Given the description of an element on the screen output the (x, y) to click on. 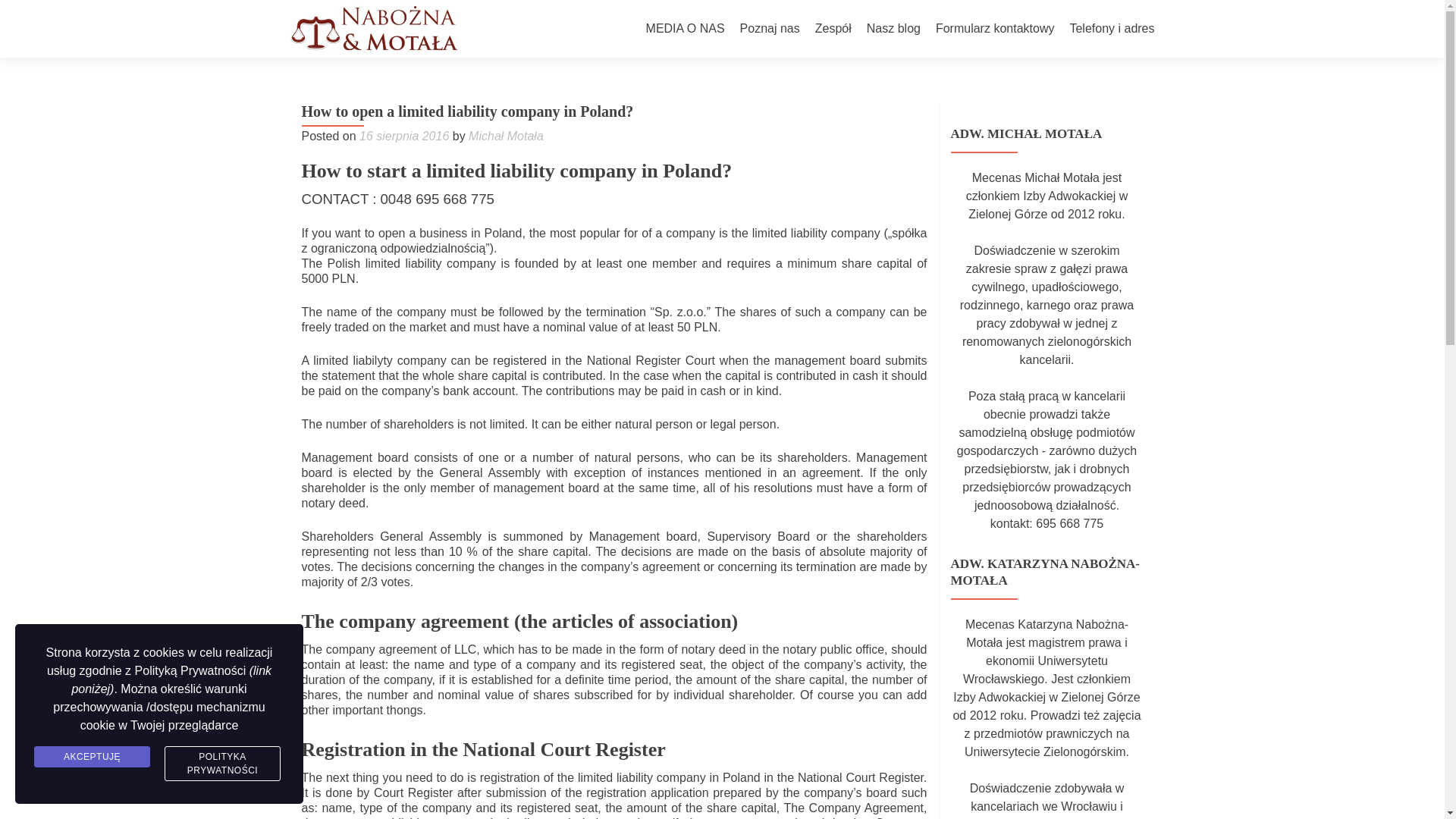
Telefony i adres (1111, 28)
MEDIA O NAS (685, 28)
Formularz kontaktowy (995, 28)
16 sierpnia 2016 (403, 135)
Nasz blog (893, 28)
Poznaj nas (769, 28)
Telefony i adres (1111, 28)
